Given the description of an element on the screen output the (x, y) to click on. 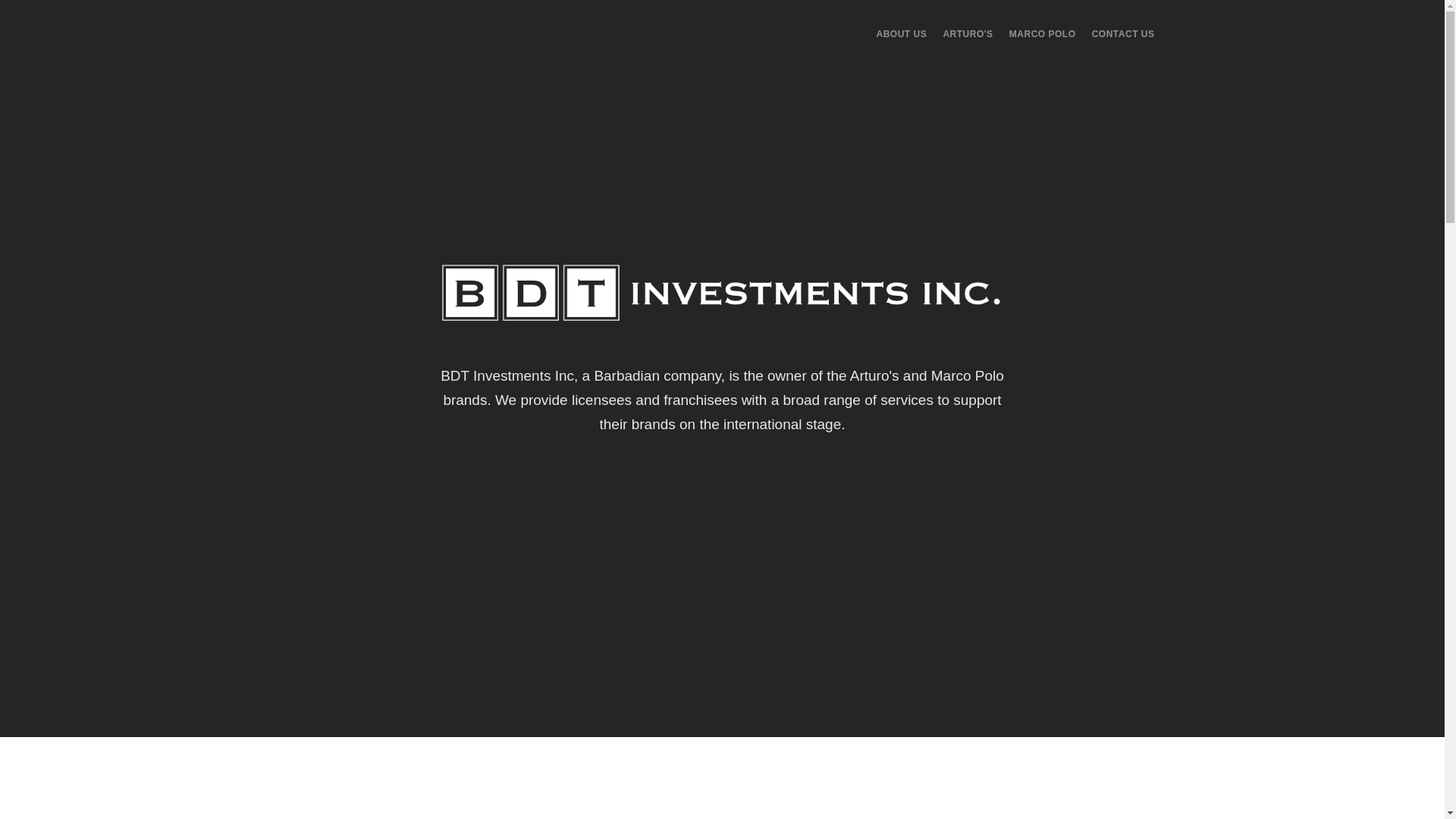
CONTACT US (1123, 33)
ARTURO'S (967, 33)
MARCO POLO (1042, 33)
ABOUT US (901, 33)
